Given the description of an element on the screen output the (x, y) to click on. 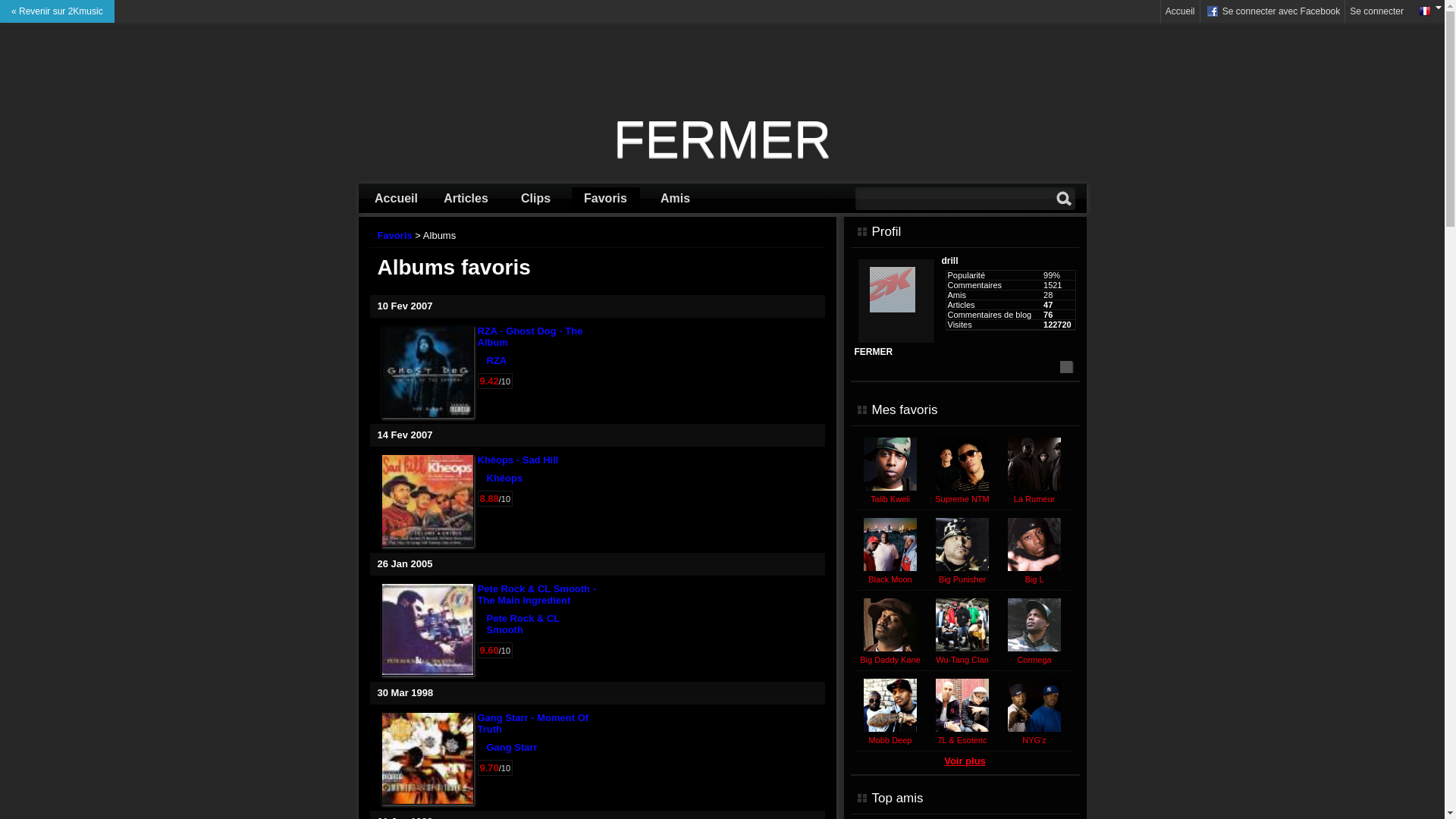
Amis Element type: text (675, 198)
 Se connecter avec Facebook Element type: text (1272, 11)
Clips Element type: text (536, 198)
Se connecter Element type: text (1376, 11)
RZA Element type: text (496, 360)
FERMER Element type: text (722, 138)
Pete Rock & CL Smooth - The Main Ingredient Element type: hover (427, 628)
Voir plus Element type: text (964, 760)
Favoris Element type: text (394, 235)
La Rumeur Element type: text (1033, 498)
Gang Starr Element type: text (511, 747)
NYG'z Element type: text (1033, 739)
RZA - Ghost Dog - The Album Element type: hover (427, 371)
Big Punisher Element type: text (961, 578)
Talib Kweli Element type: text (890, 498)
Big Daddy Kane Element type: text (889, 659)
Gang Starr - Moment Of Truth Element type: text (533, 723)
Accueil Element type: text (396, 198)
Wu-Tang Clan Element type: text (961, 659)
Pete Rock & CL Smooth Element type: text (523, 623)
Supreme NTM Element type: text (962, 498)
7L & Esoteric Element type: text (961, 739)
Gang Starr - Moment Of Truth Element type: hover (427, 757)
Accueil Element type: text (1180, 11)
Black Moon Element type: text (889, 578)
Articles Element type: text (466, 198)
Favoris Element type: text (605, 198)
RZA - Ghost Dog - The Album Element type: text (530, 336)
Big L Element type: text (1033, 578)
Pete Rock & CL Smooth - The Main Ingredient Element type: text (536, 594)
Cormega Element type: text (1033, 659)
Mobb Deep Element type: text (890, 739)
